Given the description of an element on the screen output the (x, y) to click on. 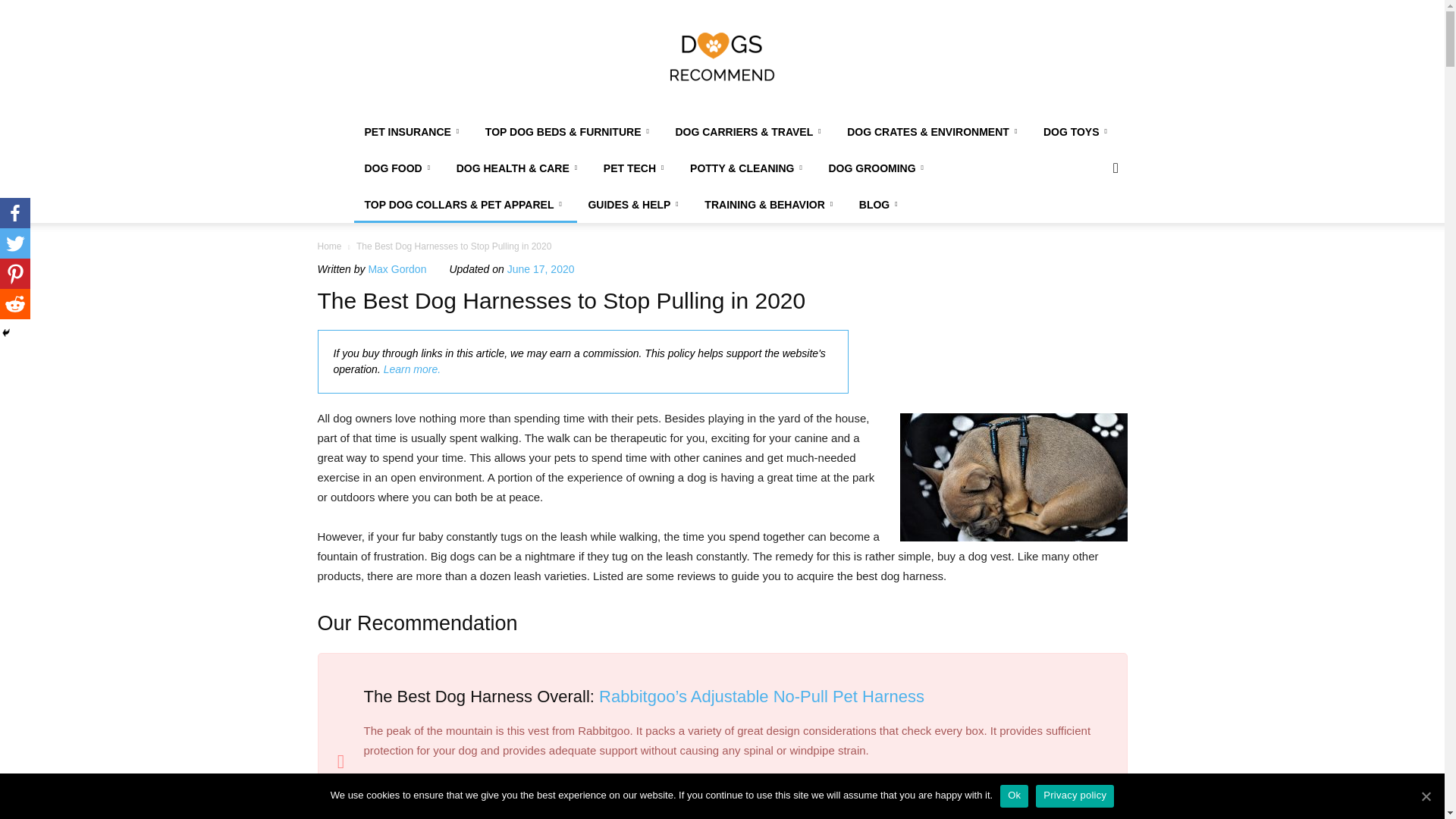
Facebook (15, 213)
Twitter (15, 243)
Pinterest (15, 273)
